Given the description of an element on the screen output the (x, y) to click on. 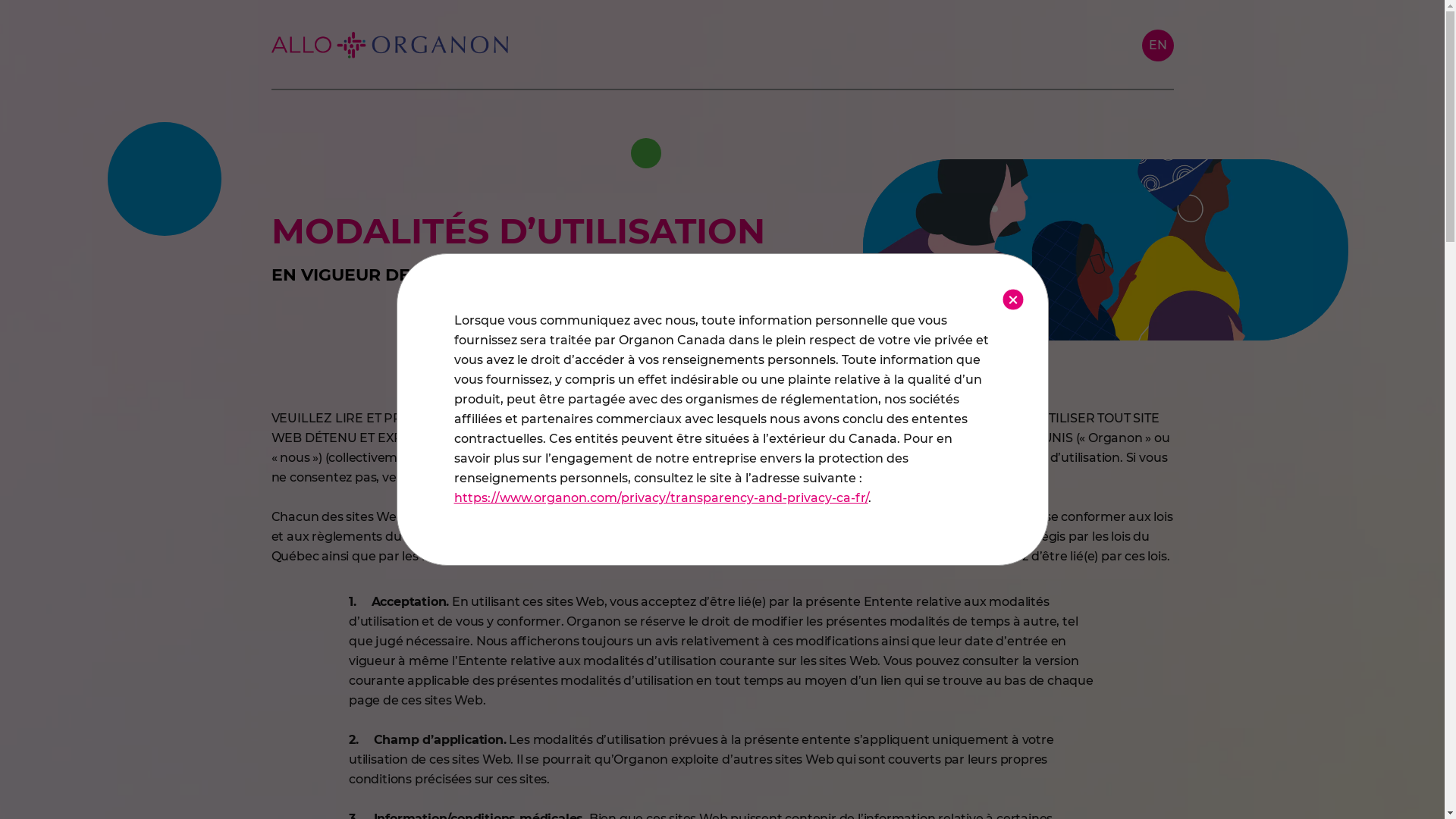
EN Element type: text (1157, 44)
Close Element type: hover (1012, 299)
